Given the description of an element on the screen output the (x, y) to click on. 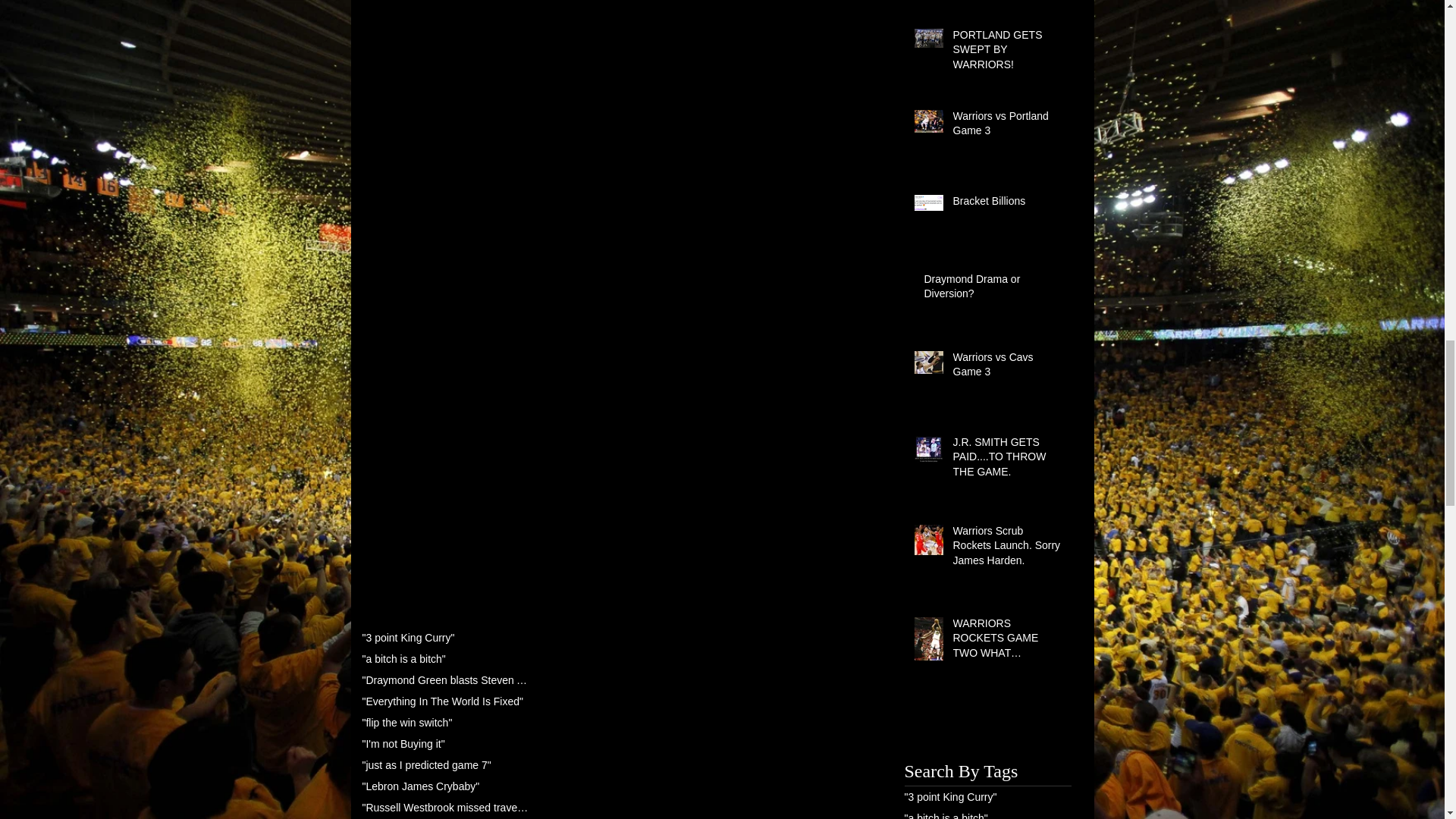
"Lebron James Crybaby" (421, 786)
"just as I predicted game 7" (427, 765)
"Everything In The World Is Fixed" (443, 701)
"I'm not Buying it" (403, 743)
"3 point King Curry" (408, 637)
"a bitch is a bitch" (403, 658)
"flip the win switch" (407, 722)
"Russell Westbrook missed traveling call" (445, 807)
